Given the description of an element on the screen output the (x, y) to click on. 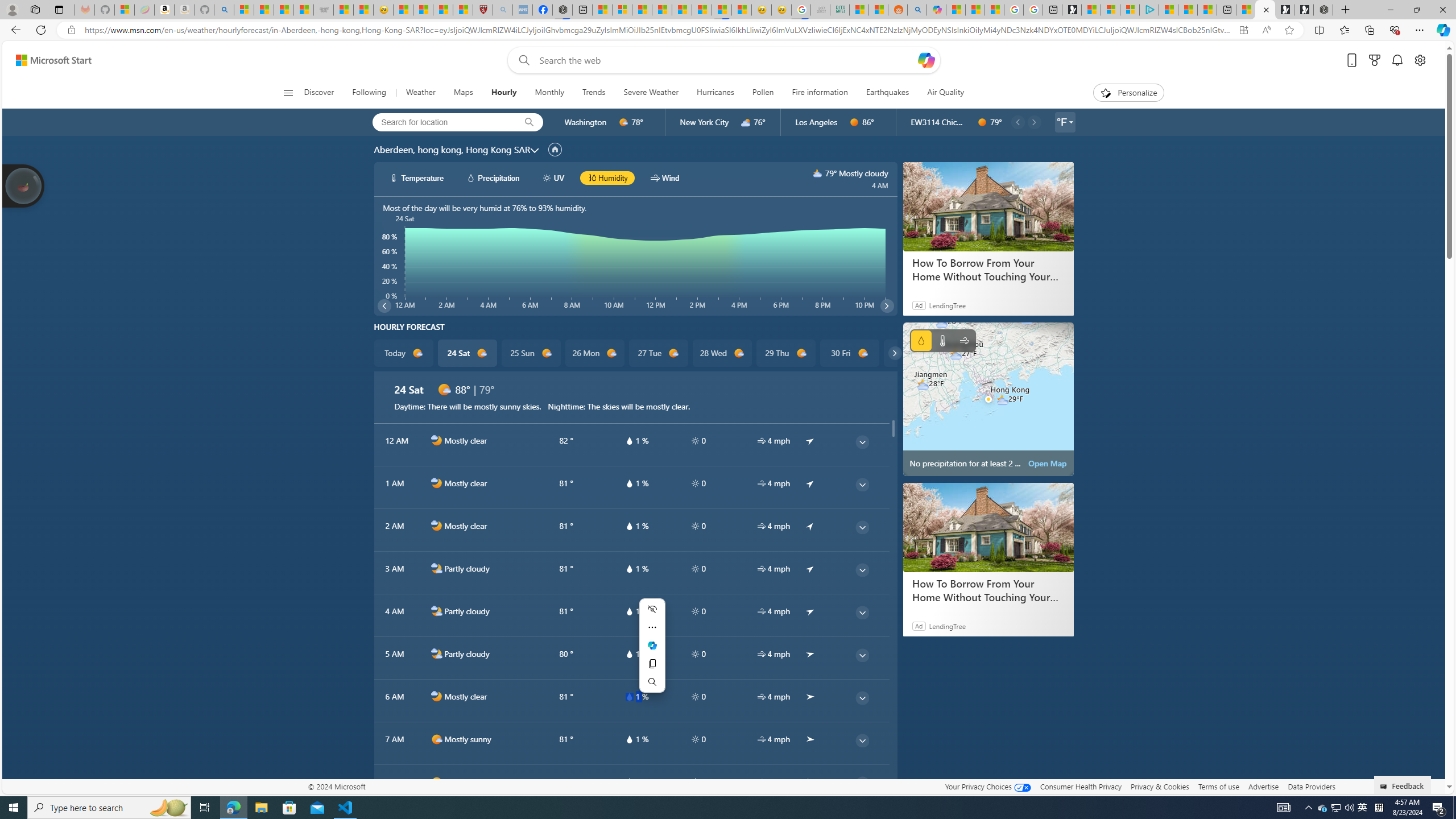
No precipitation for at least 2 hours (988, 398)
Data Providers (1311, 785)
common/carouselChevron (894, 352)
static map image of vector map (988, 398)
Data Providers (1311, 786)
hourlyChart/windWhite Wind (664, 178)
28 Wed d1000 (721, 352)
